Given the description of an element on the screen output the (x, y) to click on. 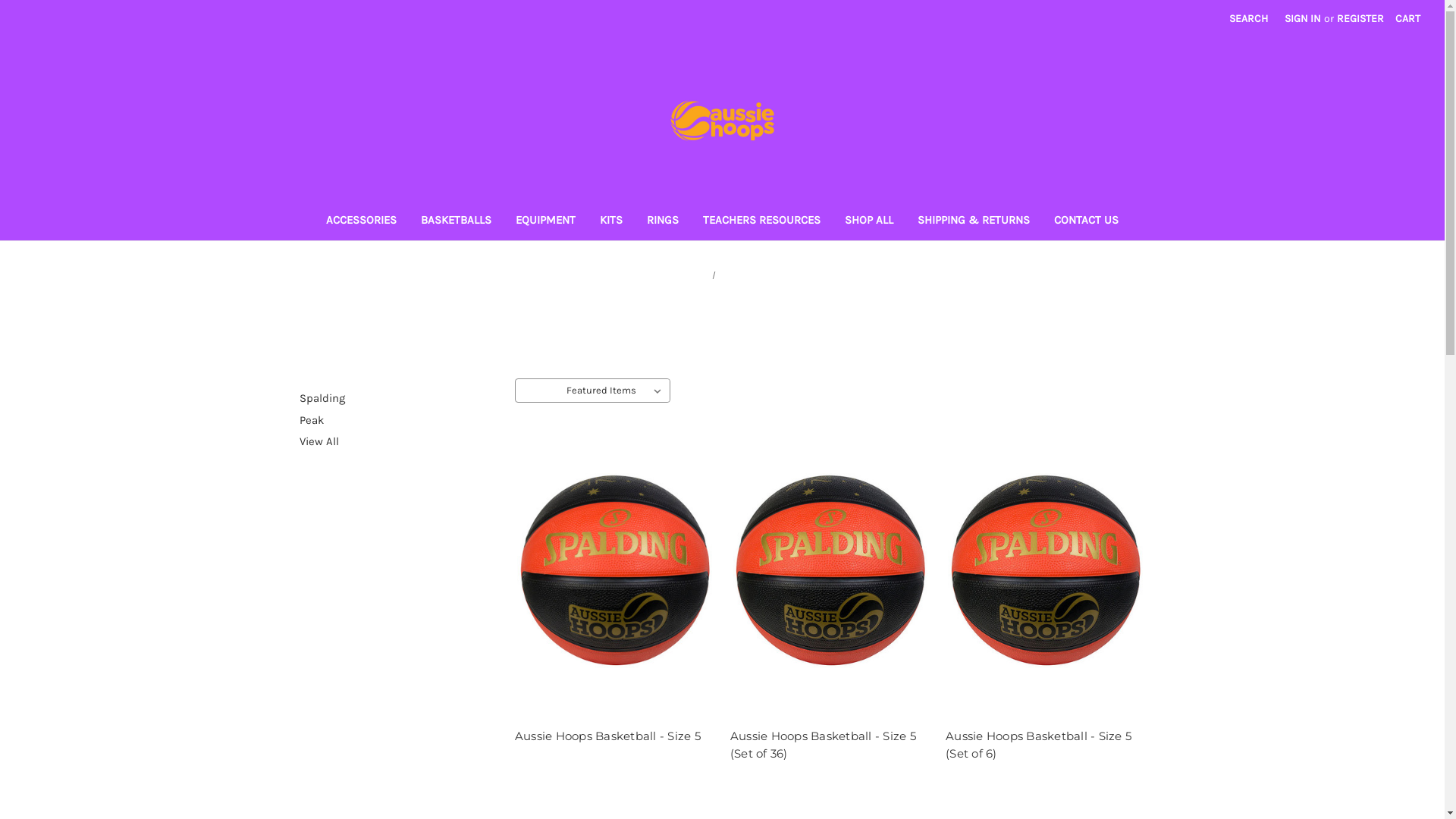
Spalding Element type: text (738, 274)
View All Element type: text (398, 441)
REGISTER Element type: text (1360, 18)
SIGN IN Element type: text (1302, 18)
Aussie Hoops Basketball - Size 5 (Set of 36) Element type: text (829, 745)
Peak Element type: text (398, 420)
SEARCH Element type: text (1248, 18)
SHIPPING & RETURNS Element type: text (973, 221)
Aussie Hoops Basketball - Size 5 (Set of 36) Element type: hover (829, 570)
RINGS Element type: text (662, 221)
Aussie Hoops Basketball - Size 5 Element type: hover (614, 570)
Aussie Hoops Basketball - Size 5 Element type: text (614, 736)
ACCESSORIES Element type: text (360, 221)
Aussie Hoops Element type: hover (721, 117)
KITS Element type: text (610, 221)
Home Element type: text (694, 274)
SHOP ALL Element type: text (868, 221)
CART Element type: text (1407, 18)
Aussie Hoops Basketball - Size 5 (Set of 6) Element type: hover (1044, 570)
BASKETBALLS Element type: text (455, 221)
EQUIPMENT Element type: text (545, 221)
CONTACT US Element type: text (1085, 221)
TEACHERS RESOURCES Element type: text (761, 221)
Aussie Hoops Basketball - Size 5 (Set of 6) Element type: text (1045, 745)
Spalding Element type: text (398, 398)
